Given the description of an element on the screen output the (x, y) to click on. 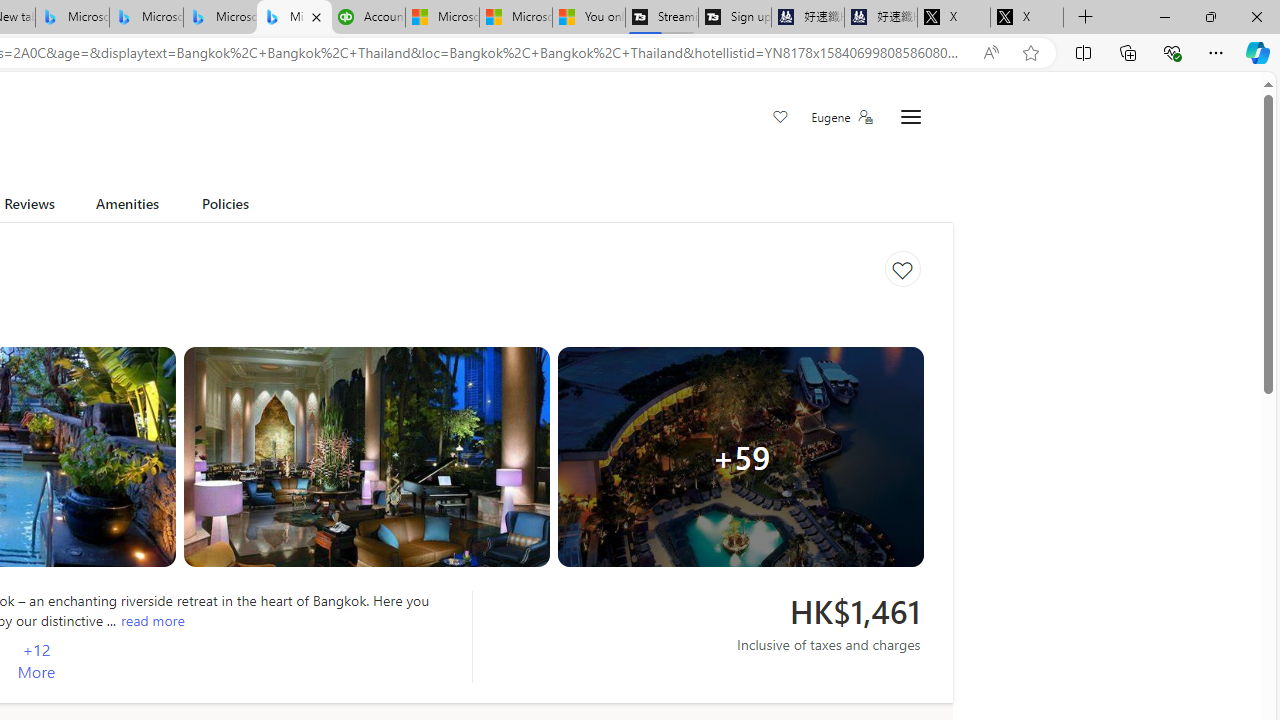
Policies (225, 207)
read more (152, 620)
Save to collections (902, 269)
Microsoft Bing Travel - Stays in Bangkok, Bangkok, Thailand (146, 17)
Amenities (126, 207)
Hotel room image (366, 457)
